Given the description of an element on the screen output the (x, y) to click on. 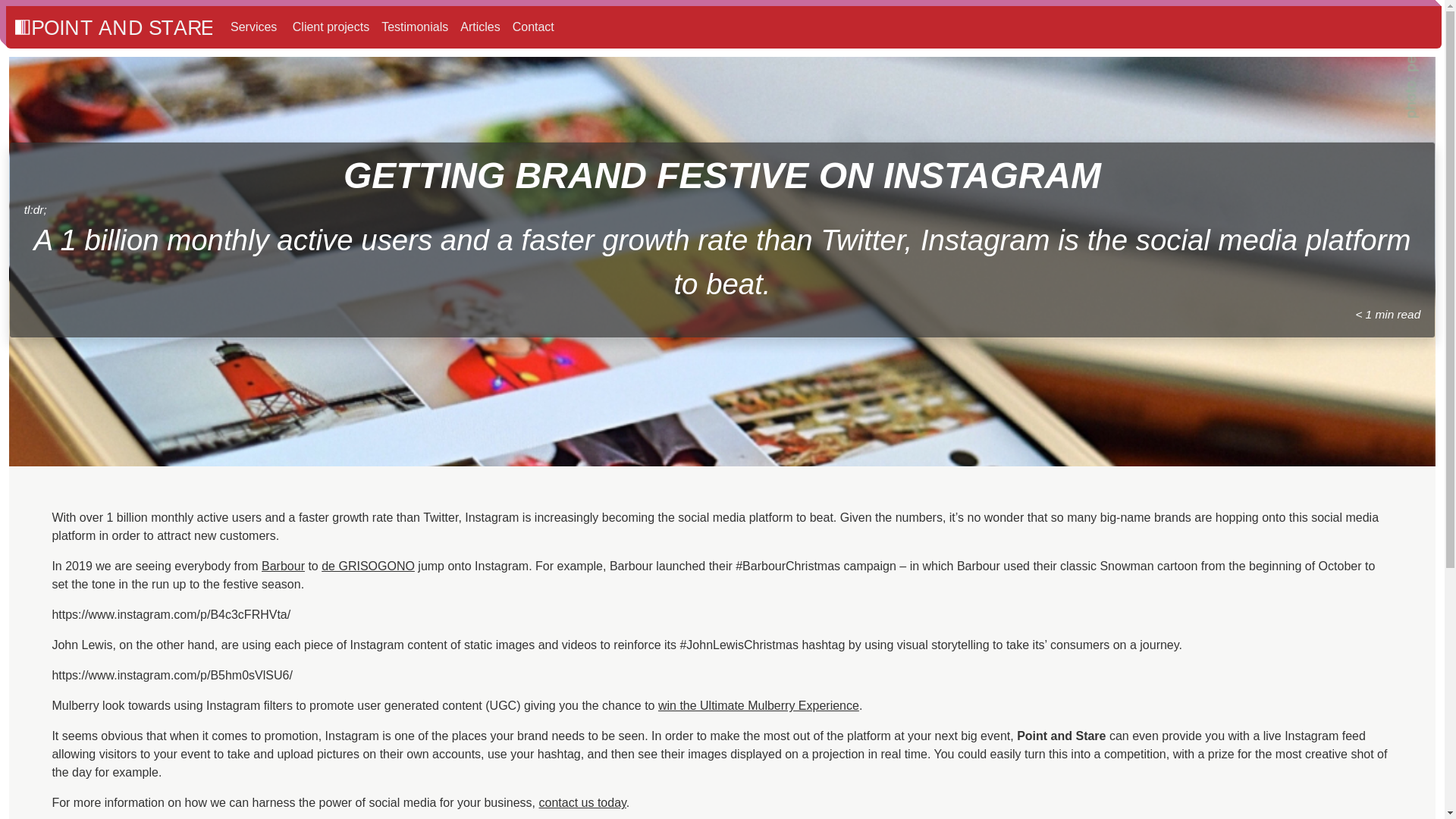
Services (253, 27)
 Client projects (324, 22)
Point and Stare (113, 26)
Contact (533, 27)
Point and Stare (113, 26)
Services (248, 21)
Client projects (328, 27)
Articles (476, 24)
Articles (479, 27)
Contact (530, 24)
Testimonials (410, 23)
Testimonials (414, 27)
